Given the description of an element on the screen output the (x, y) to click on. 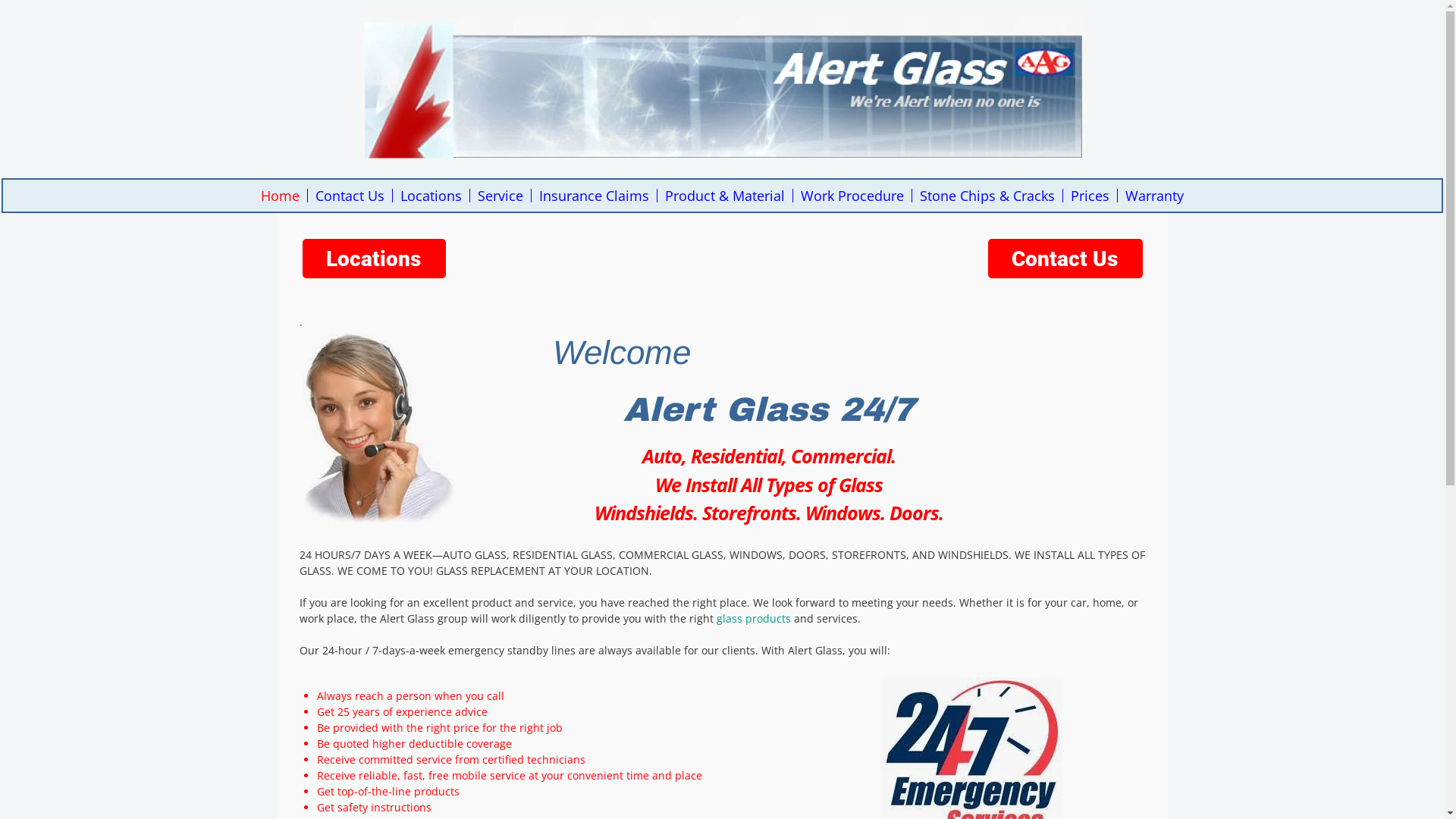
Service Element type: text (500, 195)
Warranty Element type: text (1154, 195)
Locations Element type: text (431, 195)
Prices Element type: text (1090, 195)
Product & Material Element type: text (724, 195)
Stone Chips & Cracks Element type: text (986, 195)
Customer Support Agent Element type: hover (377, 427)
Insurance Claims Element type: text (593, 195)
Work Procedure Element type: text (852, 195)
Locations Element type: text (373, 257)
Contact Us Element type: text (349, 195)
Home Element type: text (280, 195)
glass products Element type: text (752, 618)
Contact Us Element type: text (1064, 257)
